Given the description of an element on the screen output the (x, y) to click on. 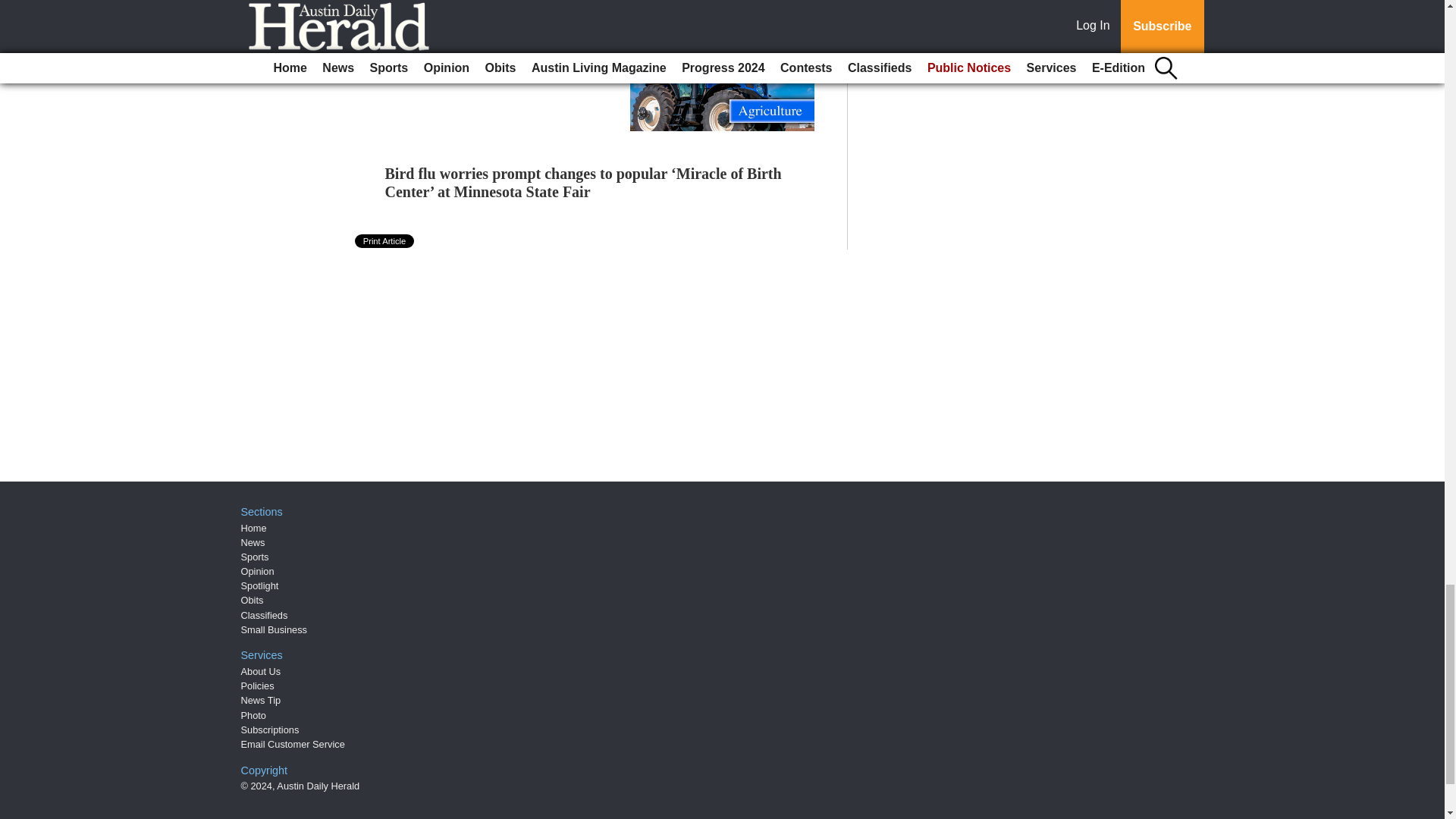
Soil-health incentive deadlines coming up (482, 56)
